Given the description of an element on the screen output the (x, y) to click on. 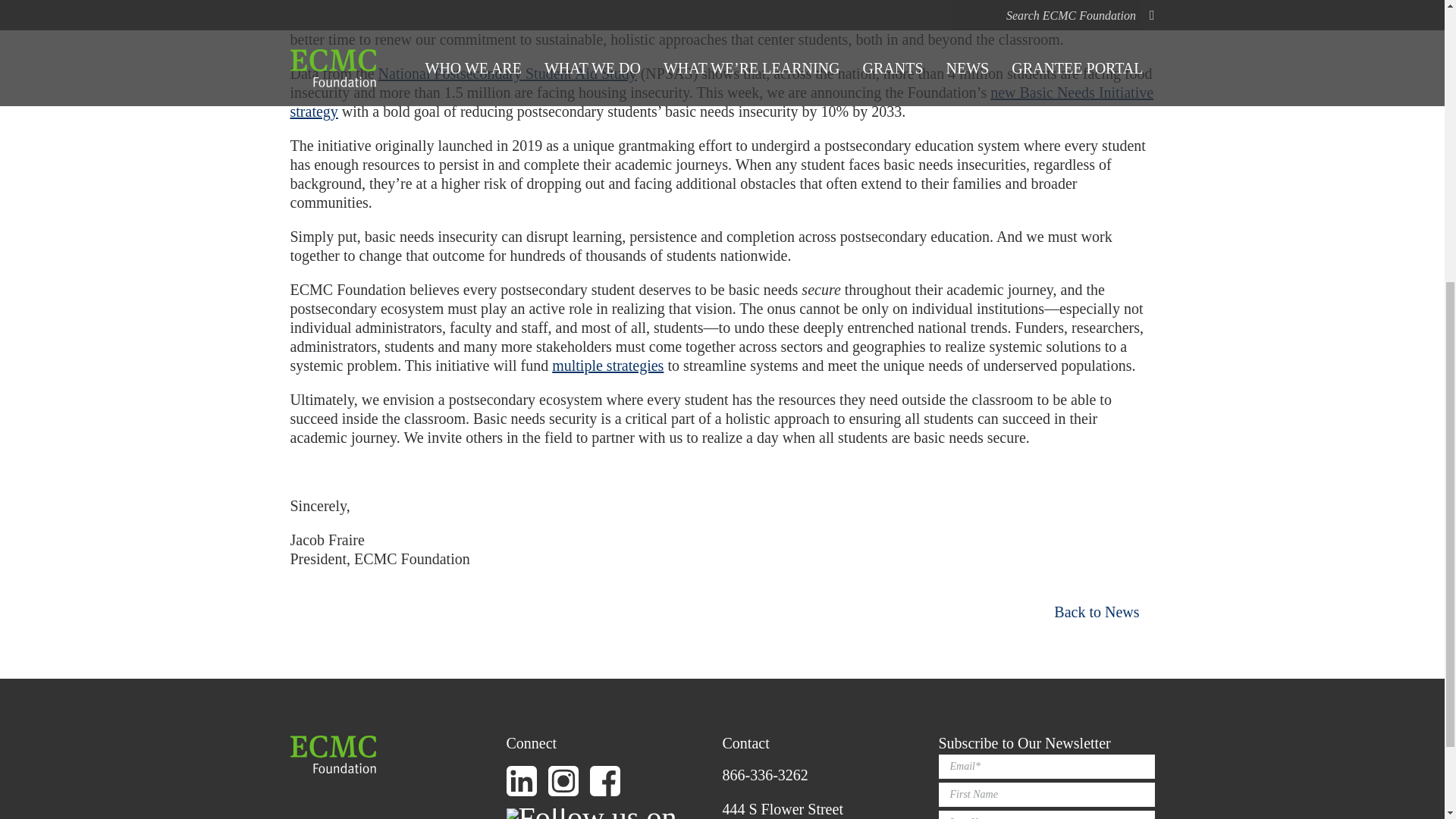
National Postsecondary Student Aid Study (507, 73)
Back to News (1104, 611)
multiple strategies (607, 365)
new Basic Needs Initiative strategy (721, 101)
